Given the description of an element on the screen output the (x, y) to click on. 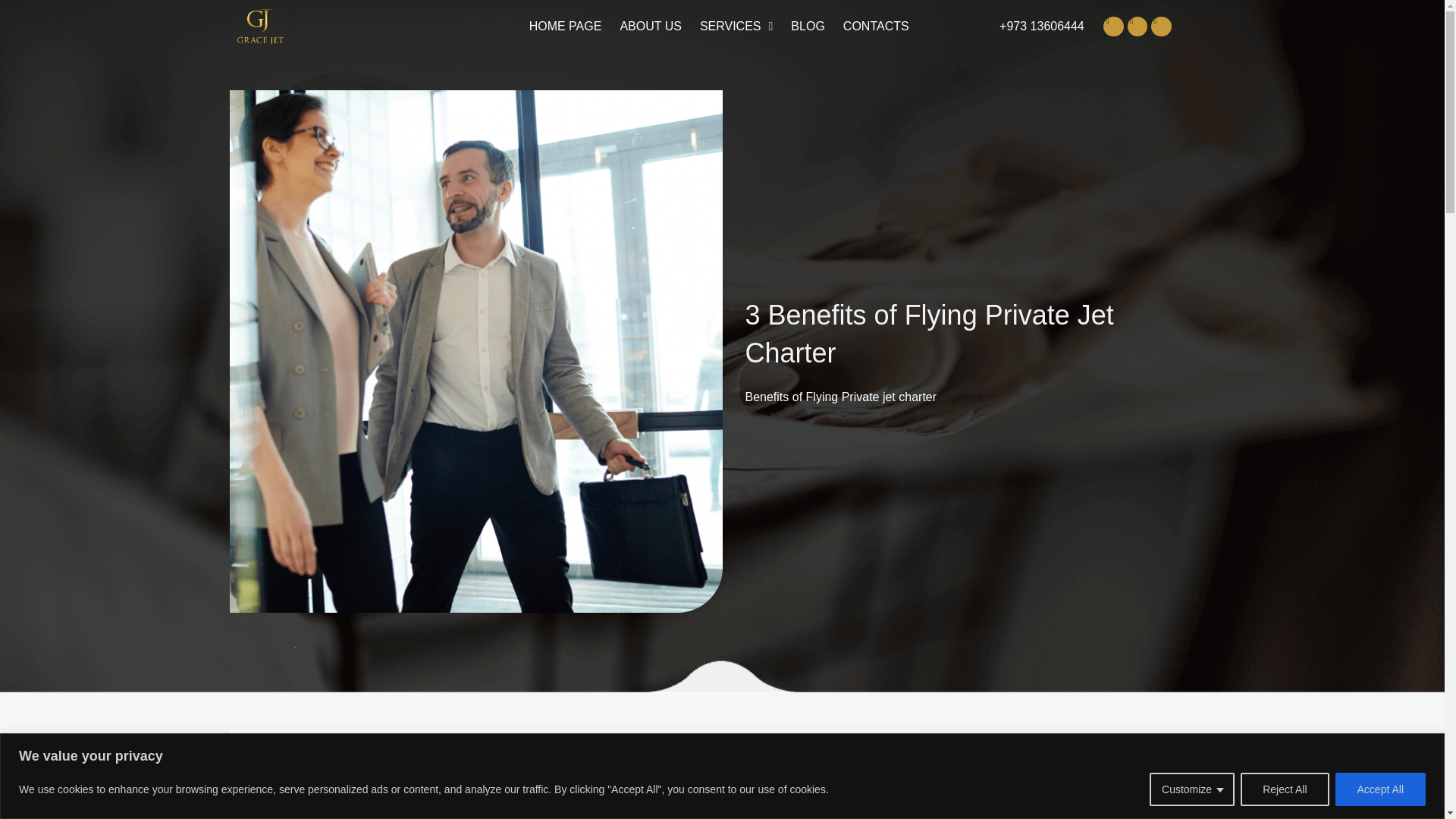
Accept All (1380, 788)
Customize (1192, 788)
SERVICES (736, 25)
Reject All (1283, 788)
HOME PAGE (565, 25)
ABOUT US (650, 25)
